Given the description of an element on the screen output the (x, y) to click on. 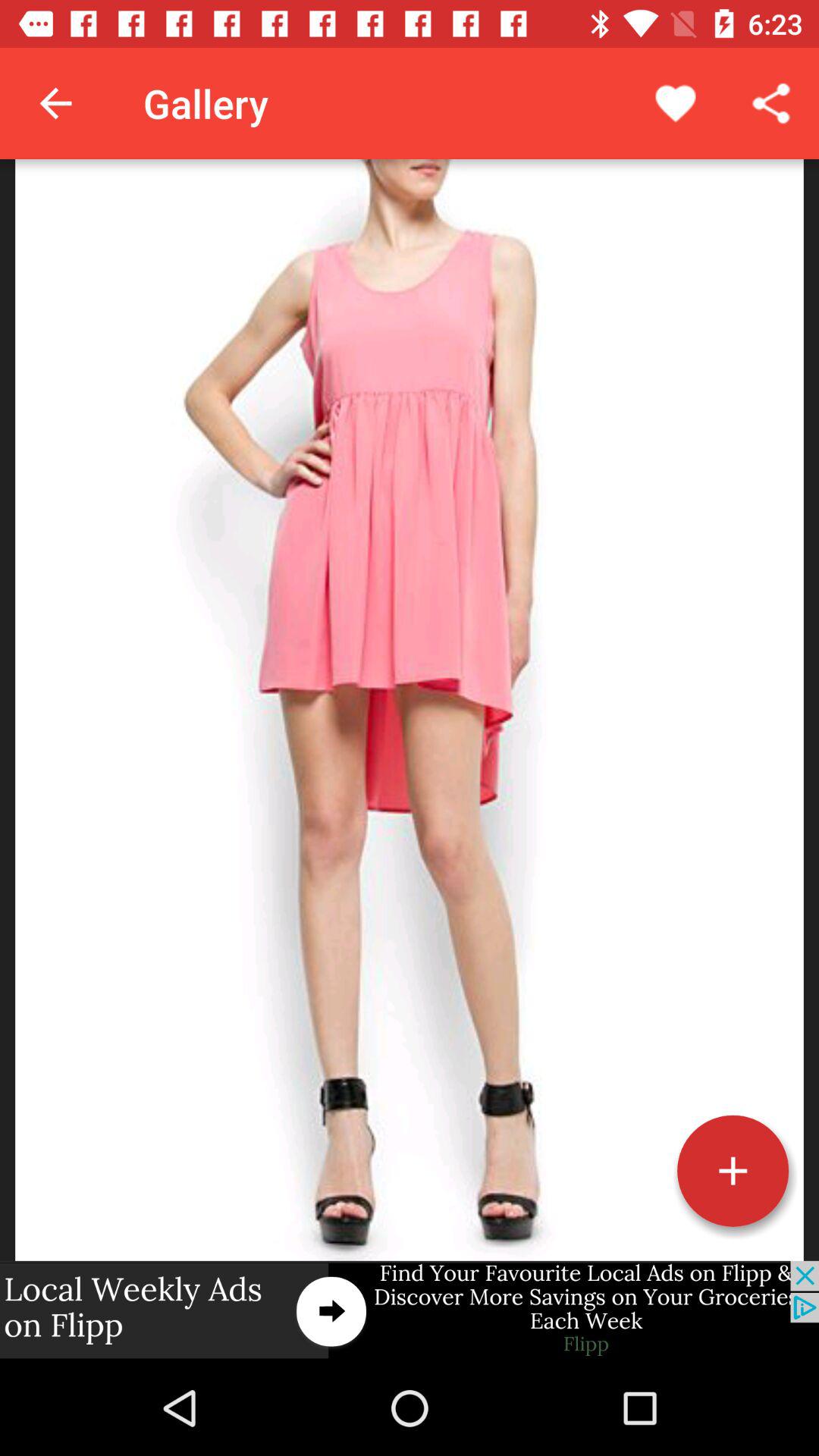
add image (733, 1171)
